Given the description of an element on the screen output the (x, y) to click on. 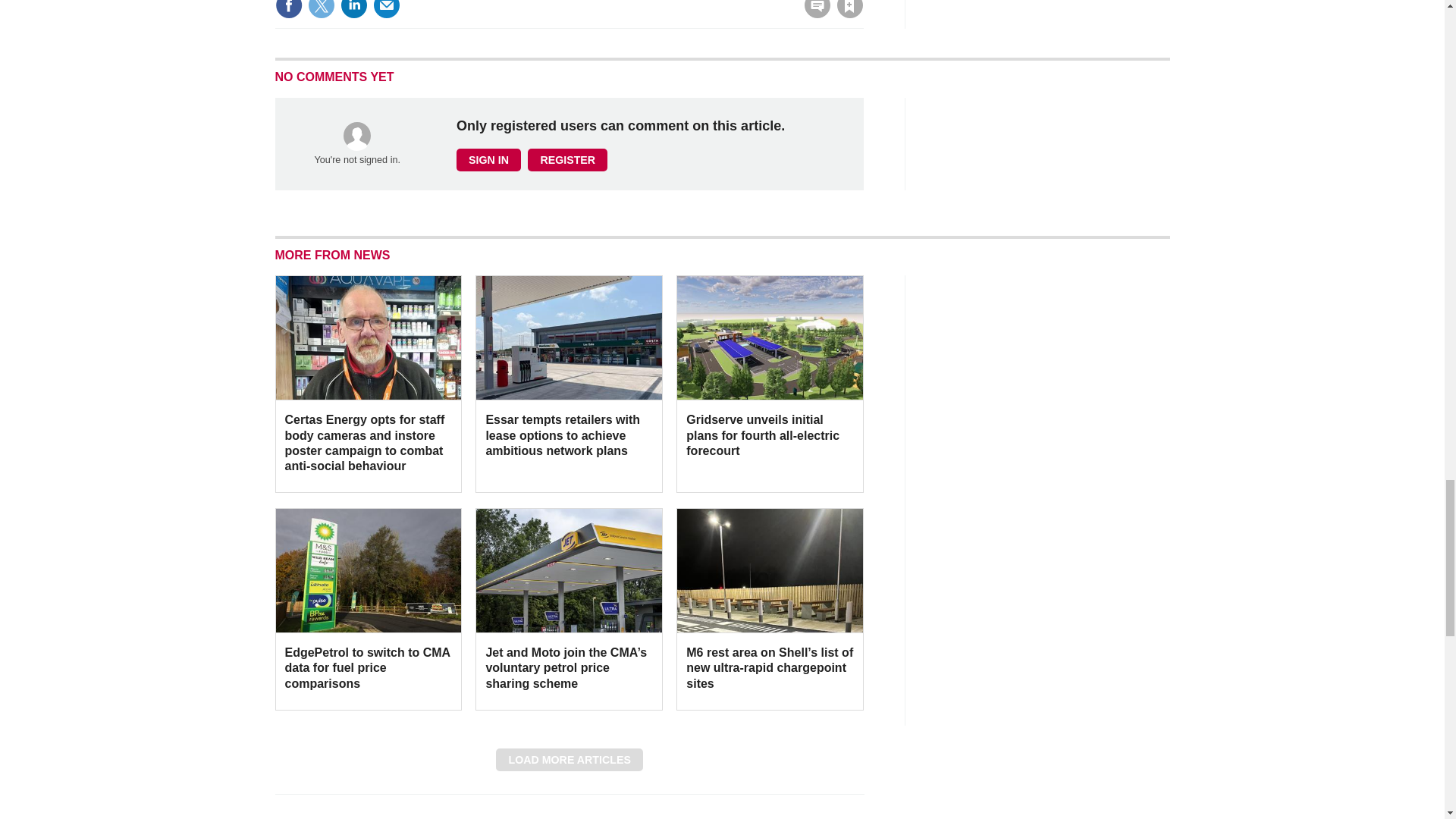
Share this on Twitter (320, 9)
Share this on Facebook (288, 9)
No comments (812, 14)
Email this article (386, 9)
Share this on Linked in (352, 9)
